Given the description of an element on the screen output the (x, y) to click on. 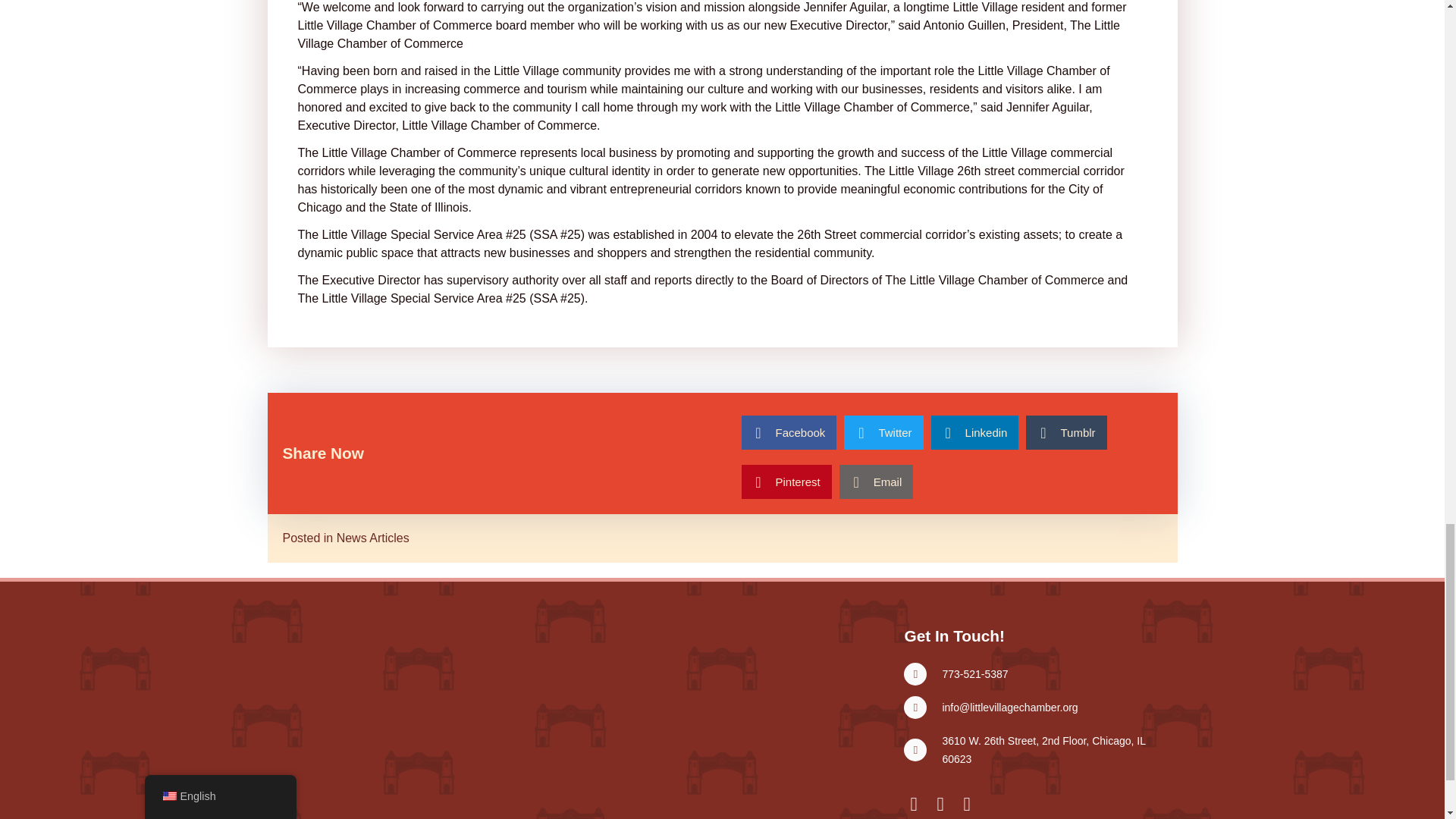
LVCC (372, 691)
